Given the description of an element on the screen output the (x, y) to click on. 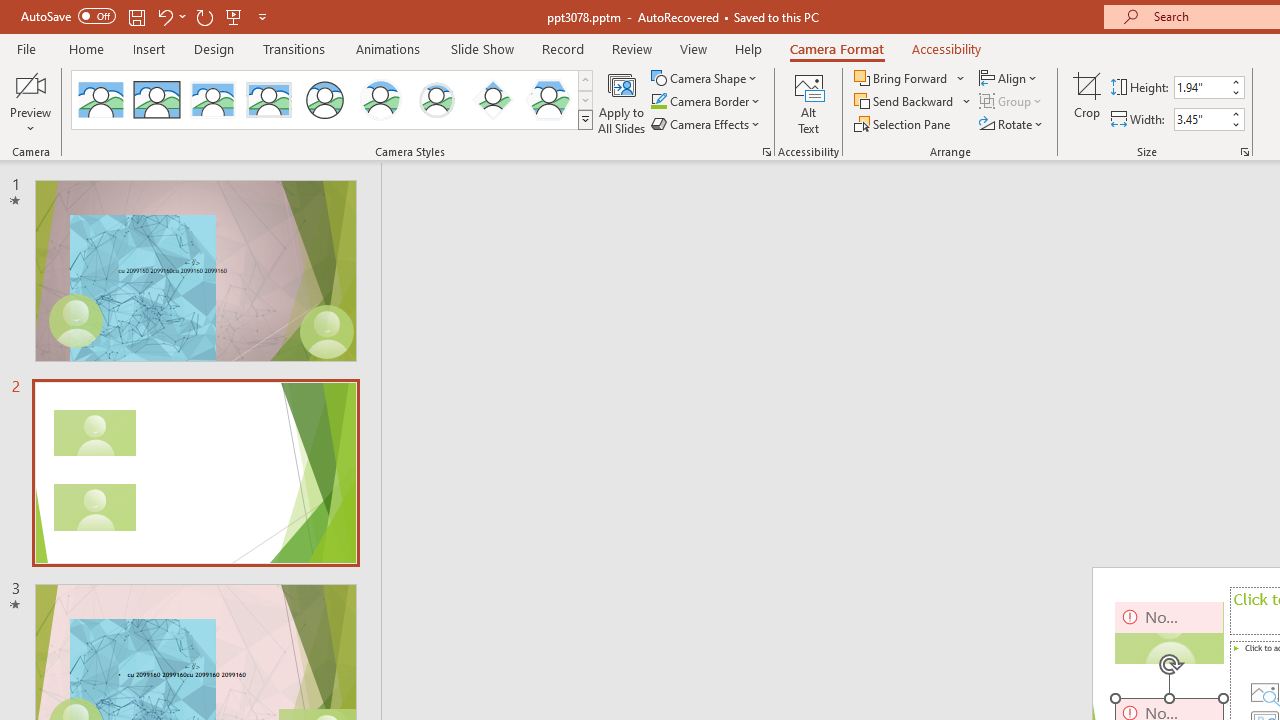
Camera Border (706, 101)
Center Shadow Diamond (492, 100)
Simple Frame Circle (324, 100)
Center Shadow Circle (381, 100)
Soft Edge Circle (436, 100)
Send Backward (913, 101)
Rotate (1012, 124)
